Given the description of an element on the screen output the (x, y) to click on. 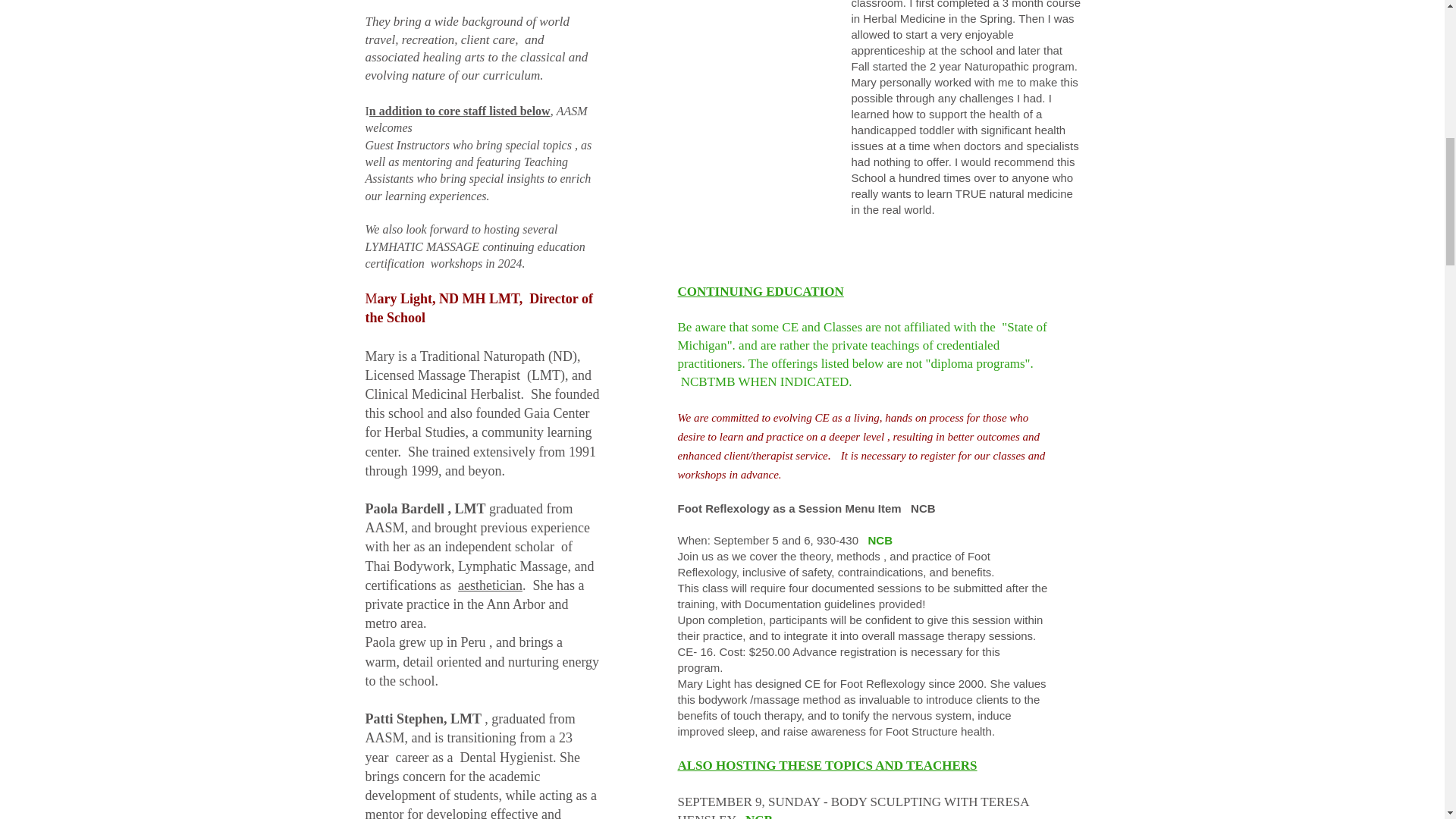
aesthetician (490, 585)
